Given the description of an element on the screen output the (x, y) to click on. 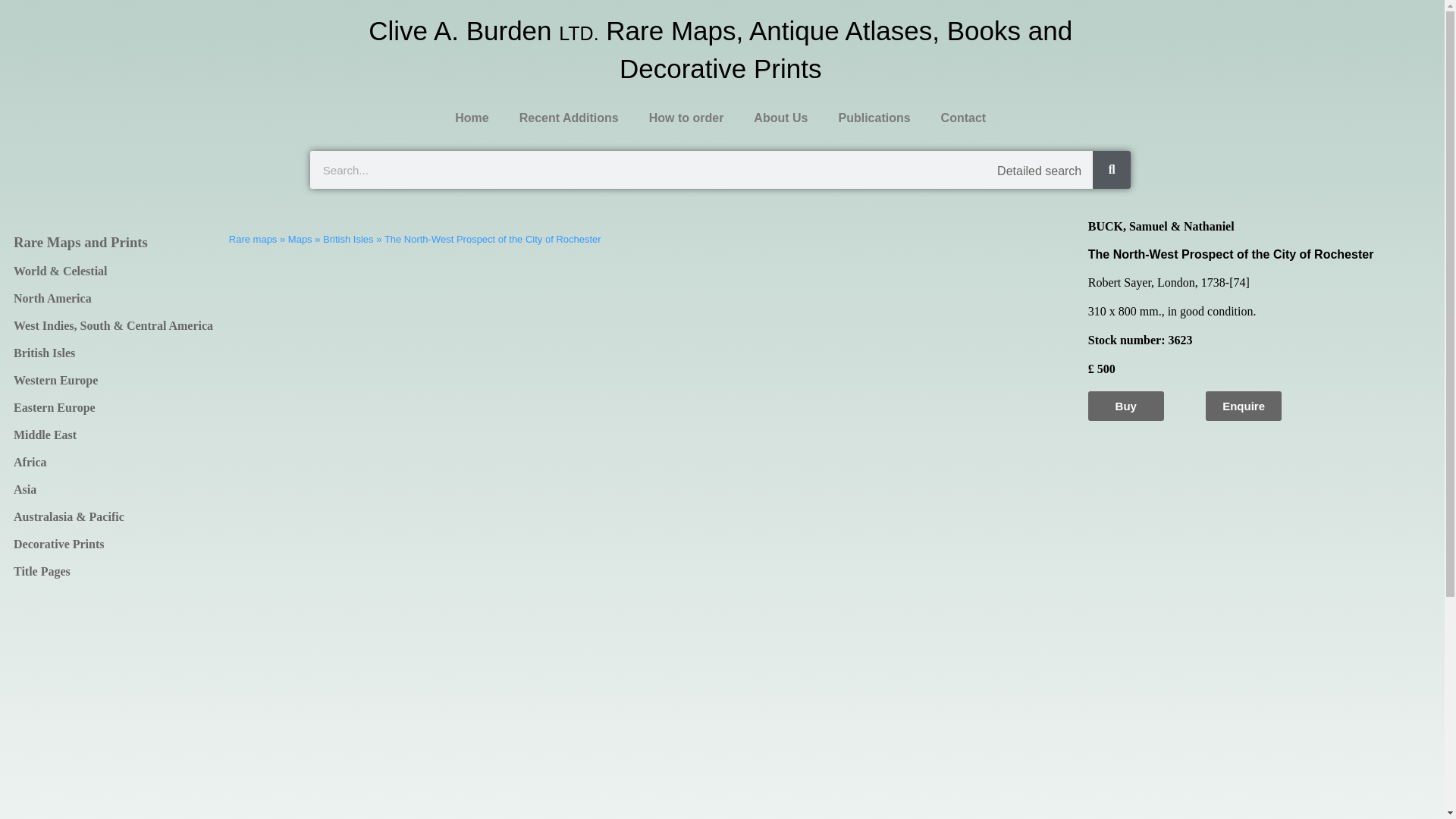
Detailed search (1039, 170)
Publications (873, 117)
British Isles (113, 353)
Home (471, 117)
About Us (780, 117)
Recent Additions (568, 117)
Contact (963, 117)
How to order (686, 117)
North America (113, 298)
